Given the description of an element on the screen output the (x, y) to click on. 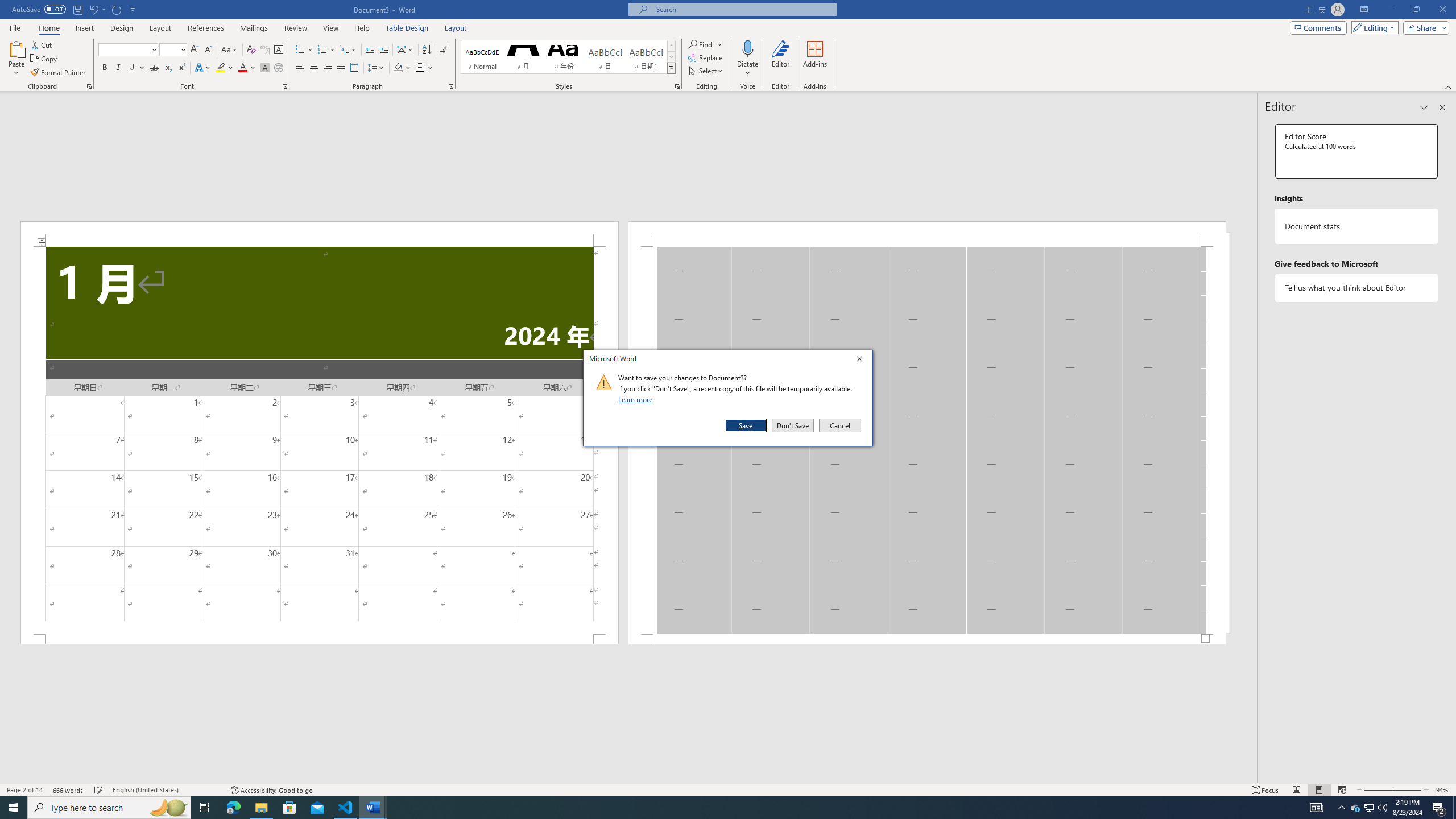
Layout (455, 28)
Bullets (304, 49)
AutomationID: 4105 (1316, 807)
Class: NetUIScrollBar (628, 778)
Microsoft Edge (233, 807)
Multilevel List (347, 49)
Borders (424, 67)
Change Case (229, 49)
Mode (1372, 27)
Running applications (717, 807)
Notification Chevron (1341, 807)
Clear Formatting (250, 49)
